Given the description of an element on the screen output the (x, y) to click on. 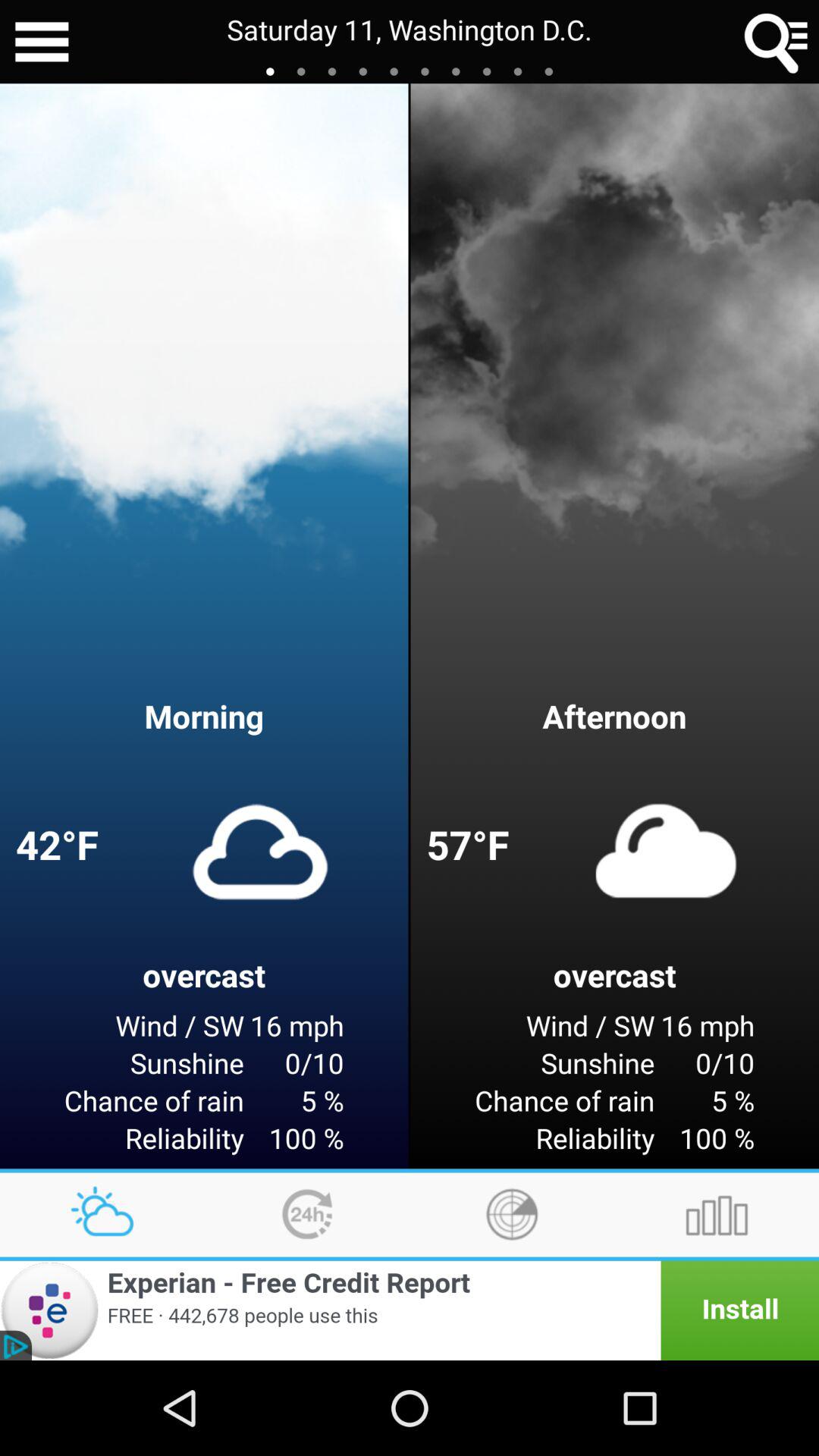
an advertisement (409, 1310)
